Given the description of an element on the screen output the (x, y) to click on. 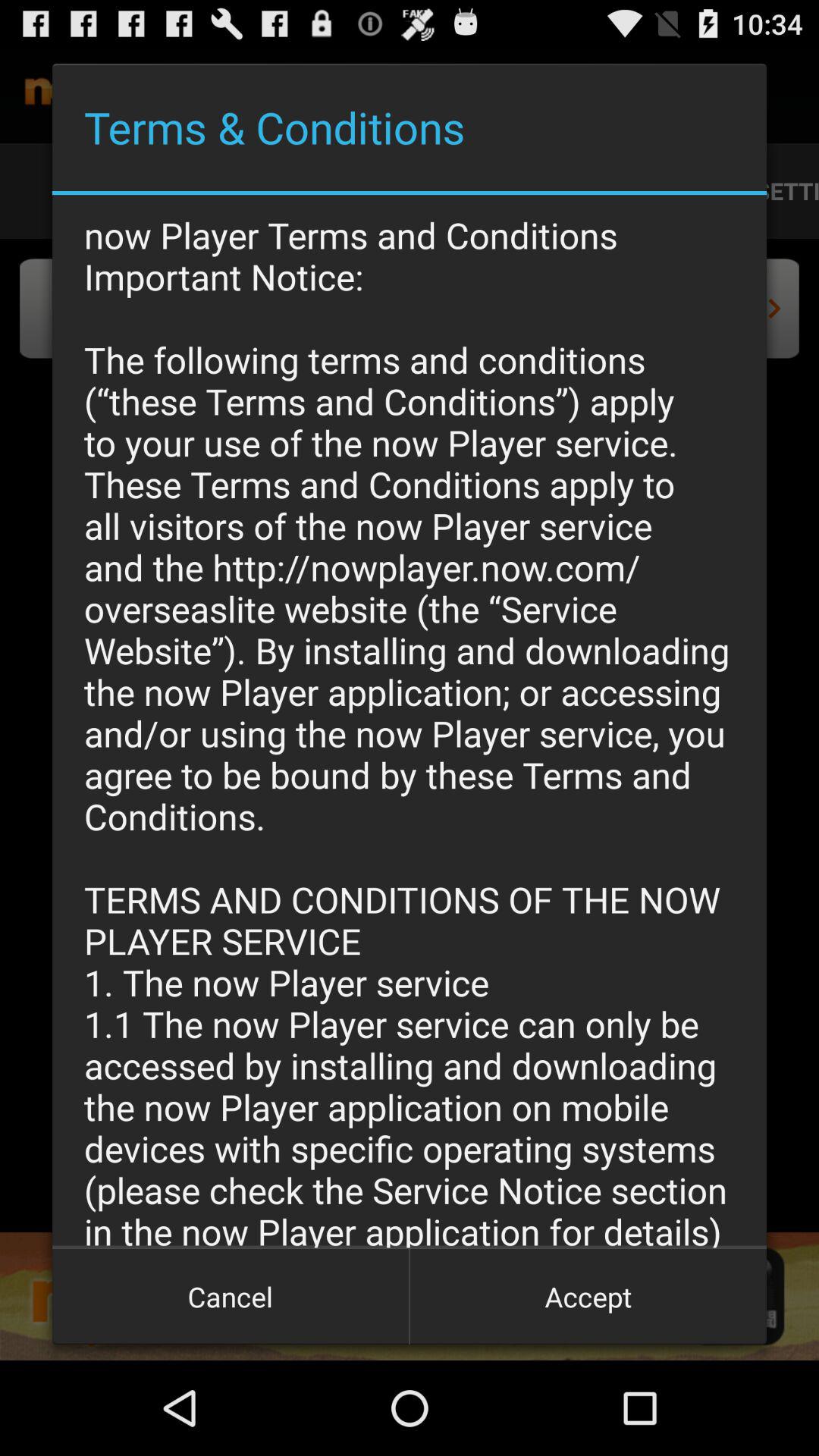
jump until the cancel button (230, 1296)
